Given the description of an element on the screen output the (x, y) to click on. 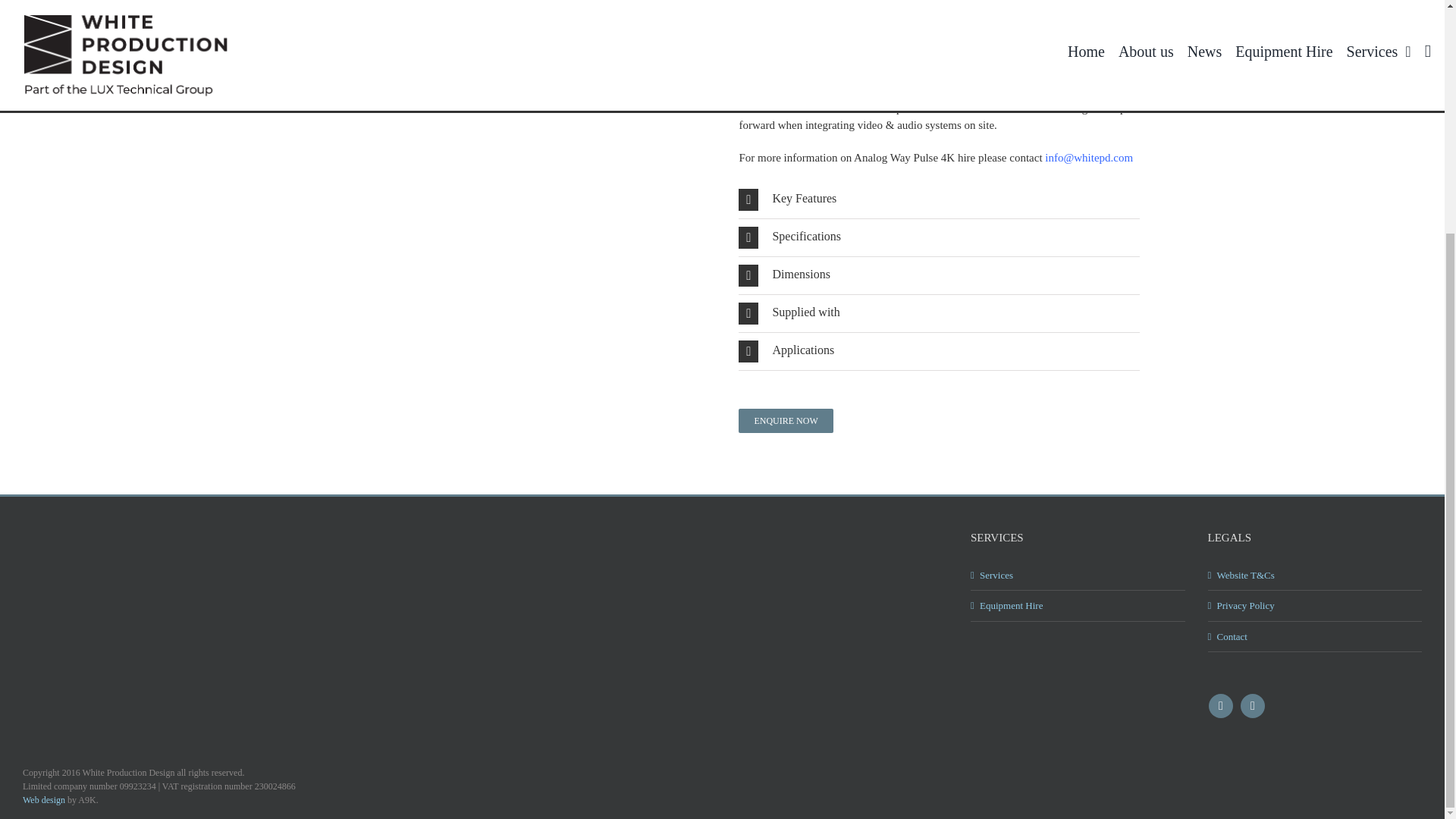
Contact (1314, 636)
Web design (44, 799)
Privacy Policy (1314, 605)
ENQUIRE NOW (785, 420)
Specifications (938, 237)
Supplied with (938, 313)
Facebook (1220, 705)
Applications (938, 351)
Equipment Hire (1078, 605)
Key Features (938, 199)
Dimensions (938, 275)
Services (1078, 575)
Instagram (1252, 705)
